Given the description of an element on the screen output the (x, y) to click on. 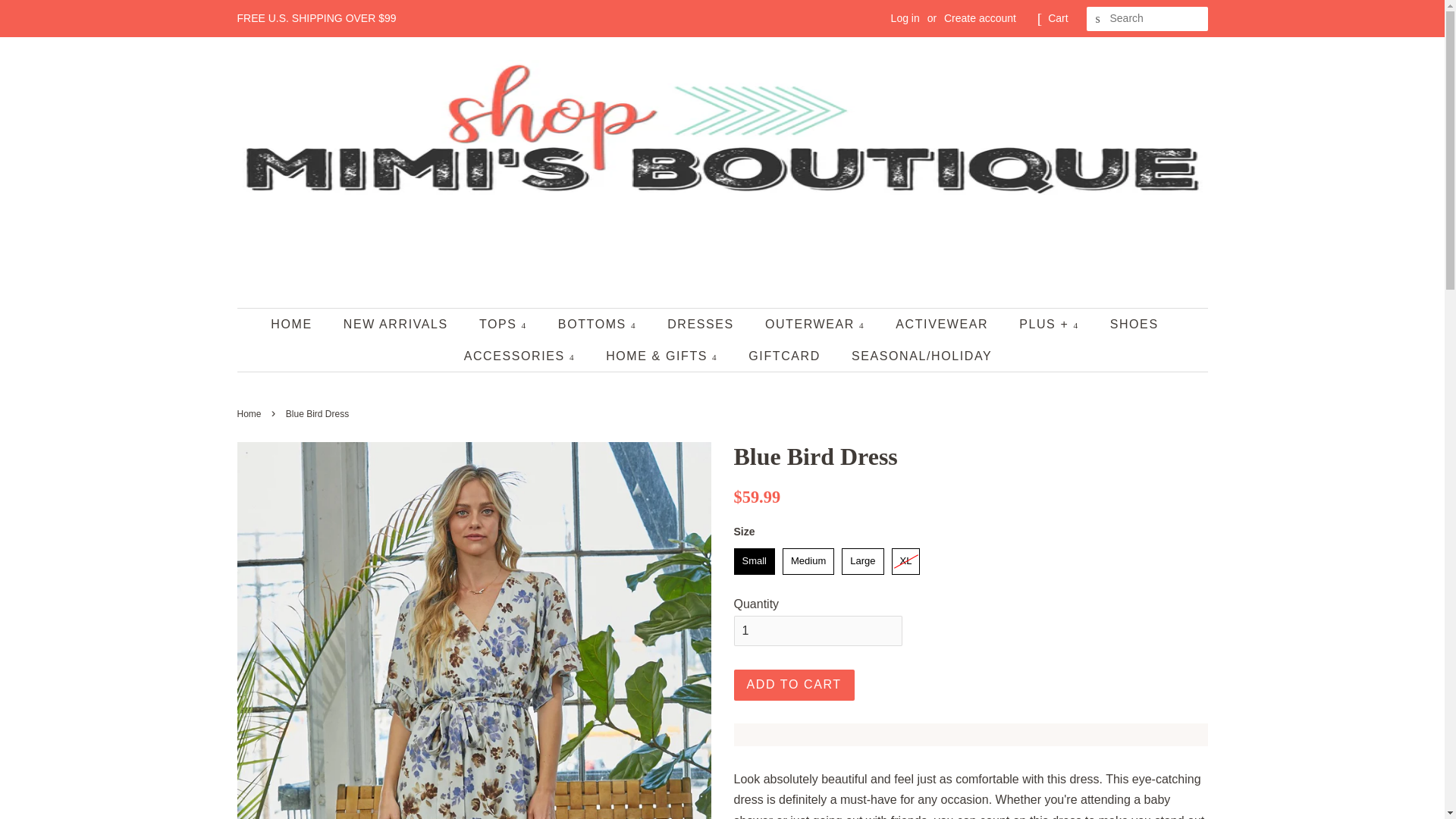
1 (817, 631)
Cart (1057, 18)
Large (862, 560)
Back to the frontpage (249, 413)
Log in (905, 18)
Medium (808, 560)
Create account (979, 18)
SEARCH (1097, 18)
Small (754, 560)
XL (905, 560)
